Given the description of an element on the screen output the (x, y) to click on. 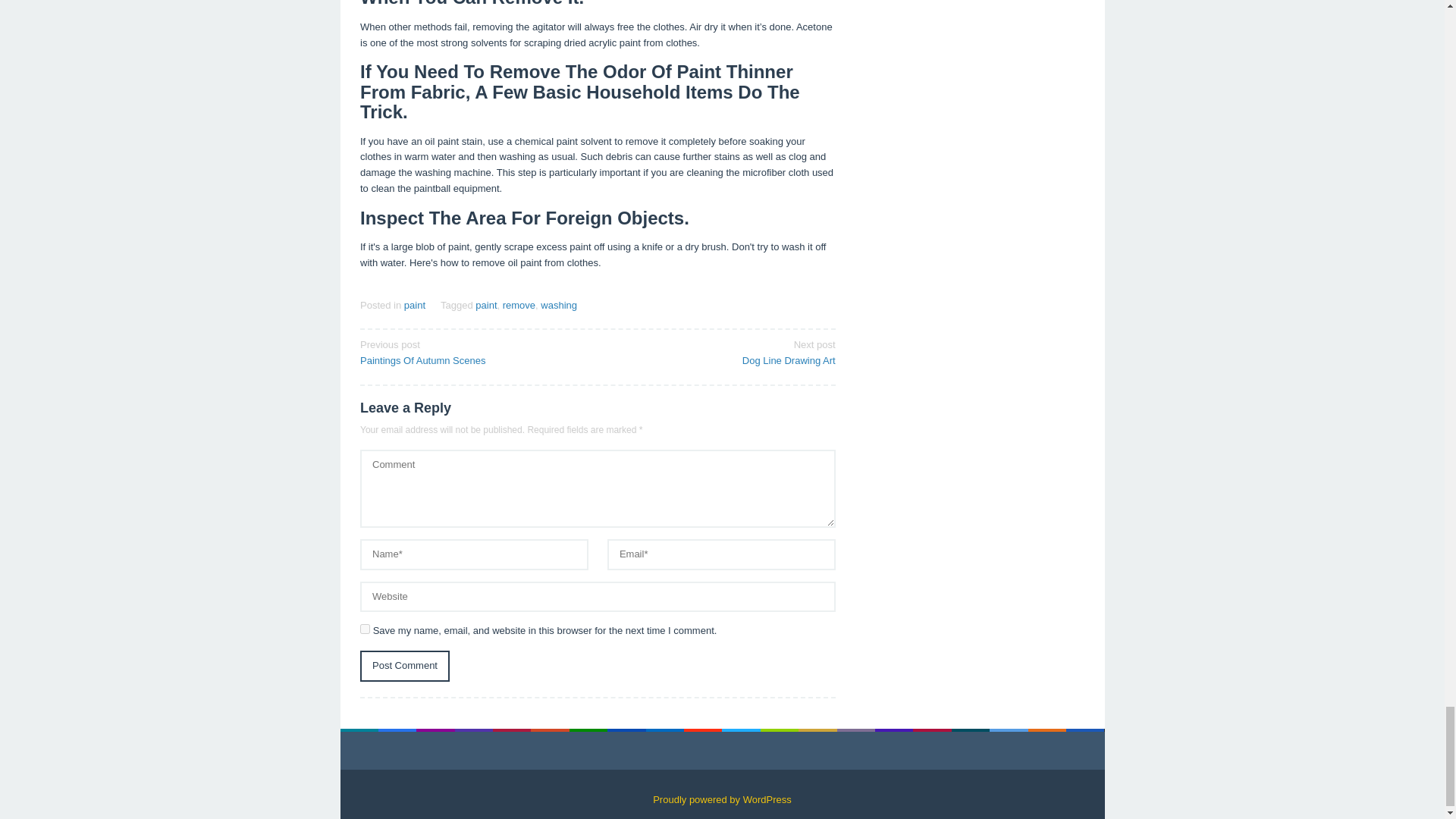
paint (414, 748)
paint (486, 748)
washing (558, 748)
remove (473, 796)
